Given the description of an element on the screen output the (x, y) to click on. 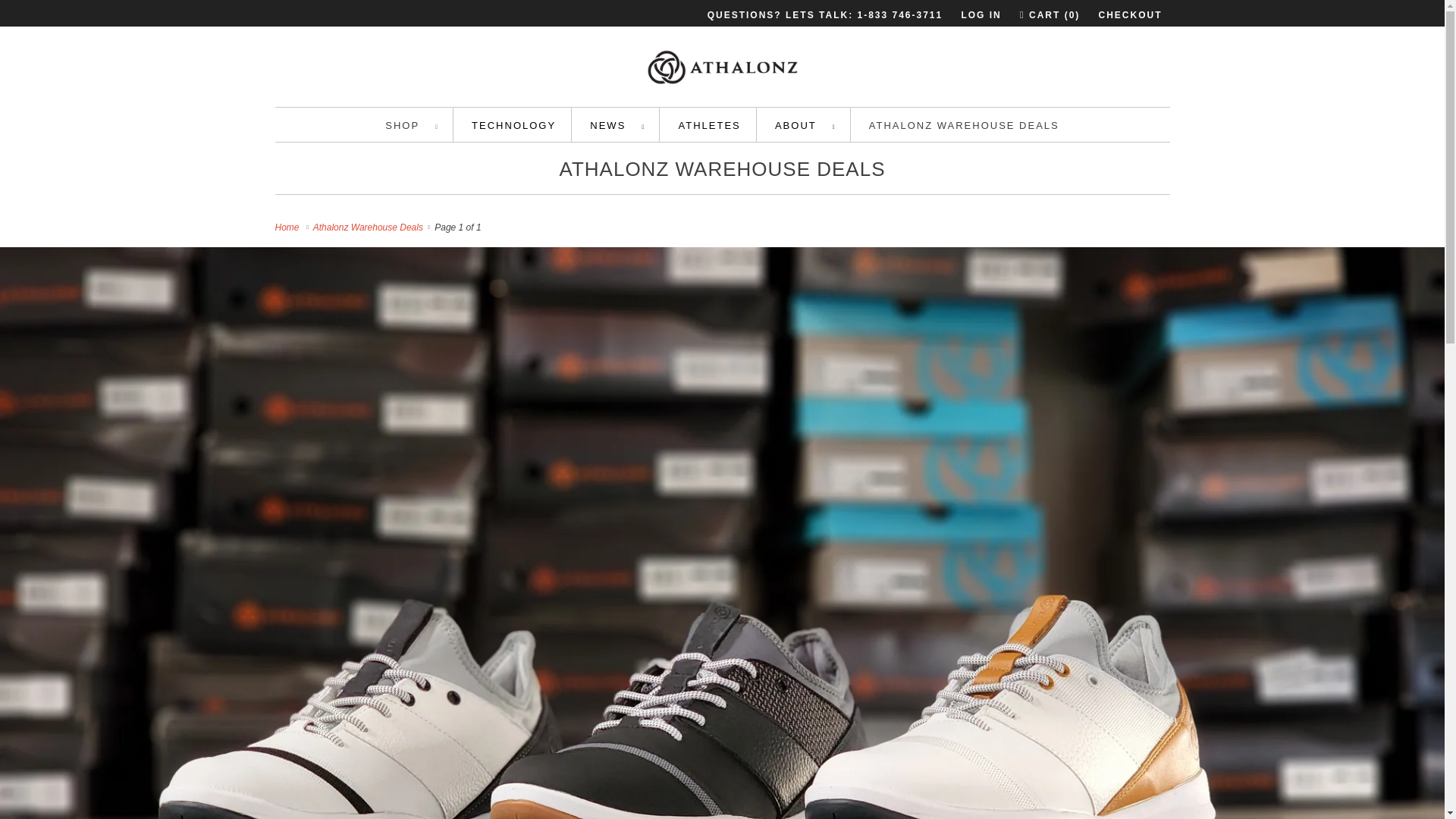
Athalonz Warehouse Deals (722, 169)
Athalonz (722, 70)
CHECKOUT (1129, 15)
TECHNOLOGY (513, 125)
Athalonz Warehouse Deals (370, 226)
Athalonz (288, 226)
LOG IN (980, 15)
QUESTIONS? LETS TALK: 1-833 746-3711 (825, 15)
SHOP  (411, 125)
